Given the description of an element on the screen output the (x, y) to click on. 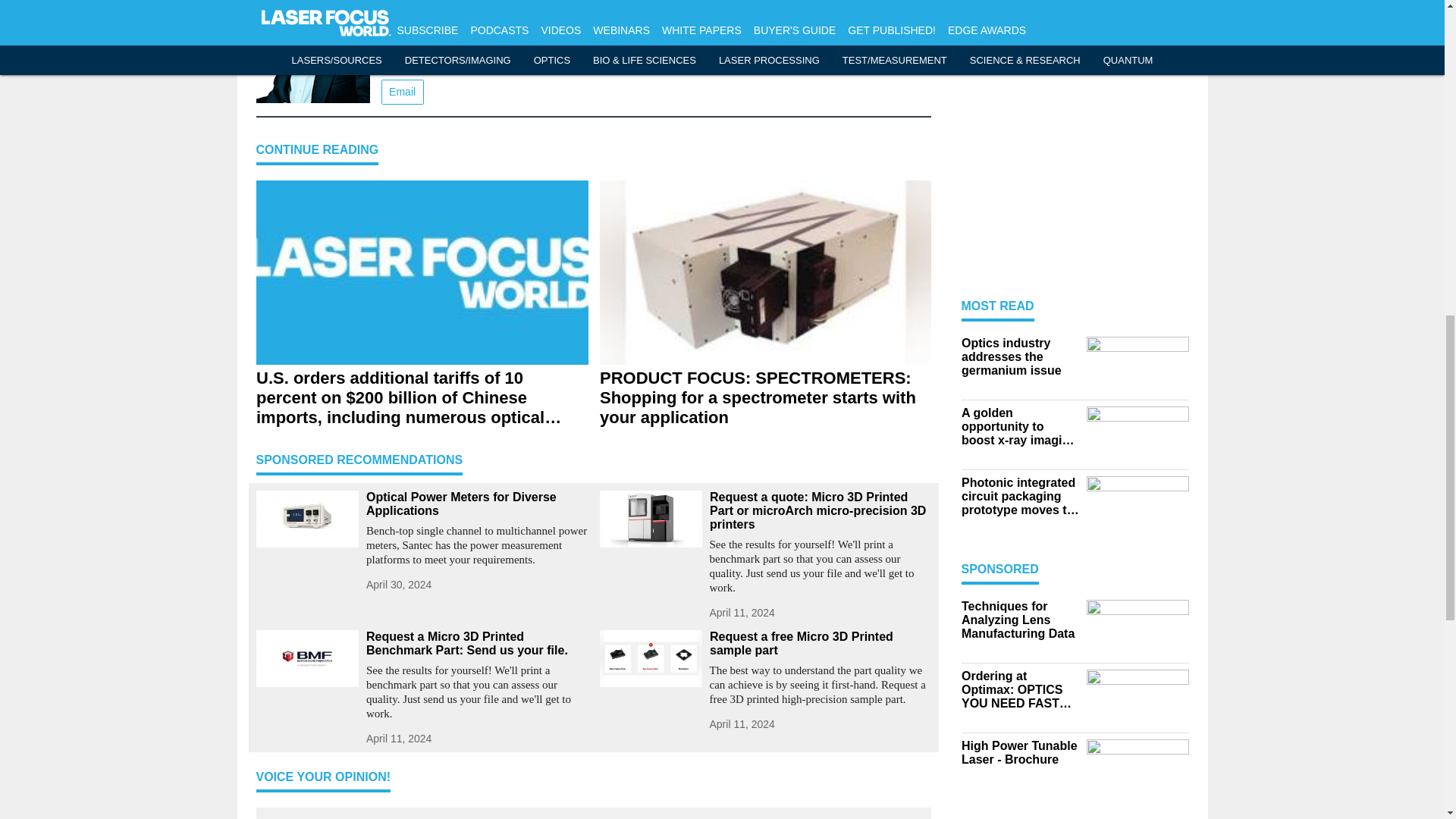
Optical Power Meters for Diverse Applications (476, 503)
Email (401, 91)
Request a free Micro 3D Printed sample part (820, 643)
